Given the description of an element on the screen output the (x, y) to click on. 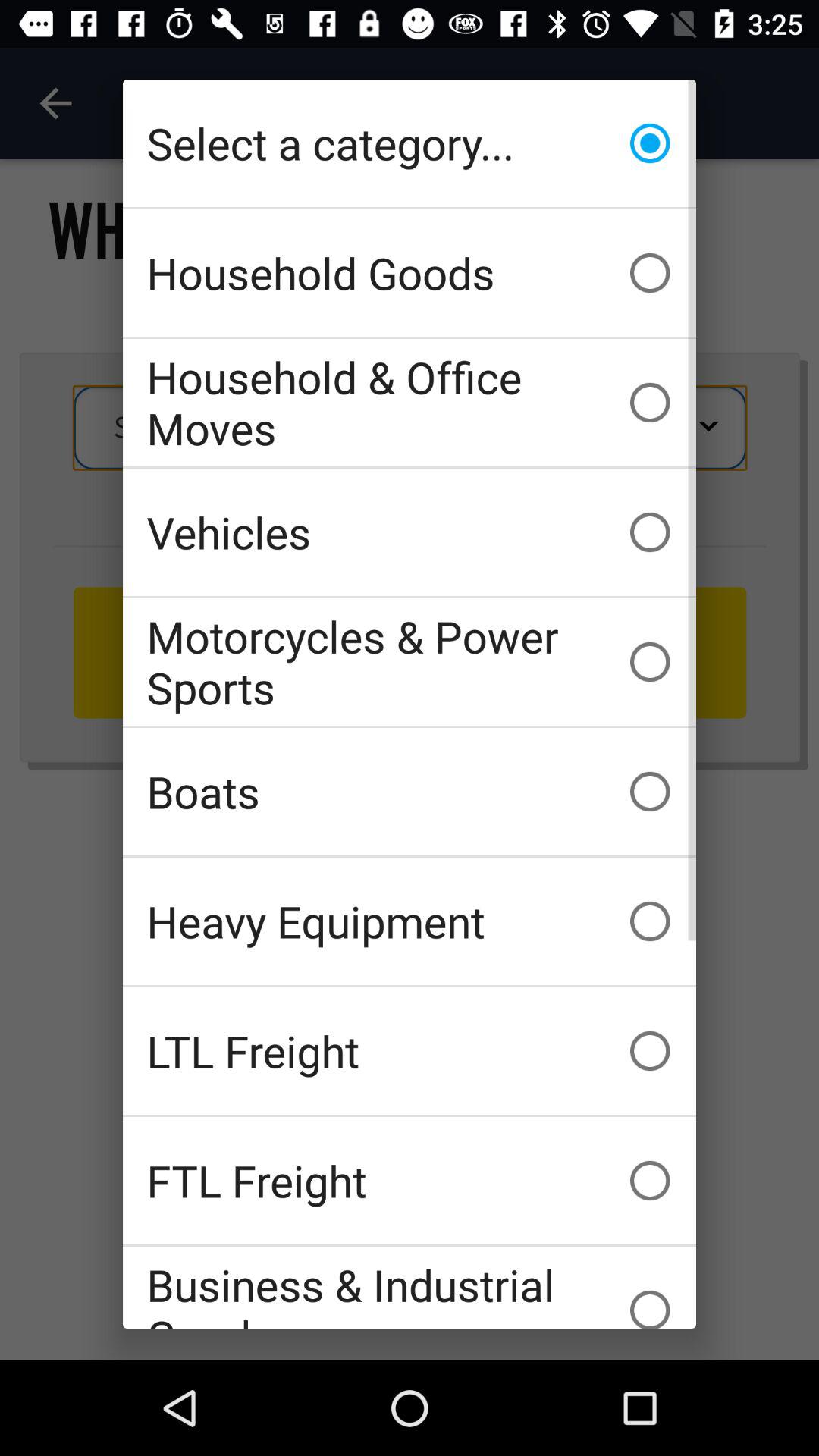
turn on item below the ftl freight (409, 1287)
